Given the description of an element on the screen output the (x, y) to click on. 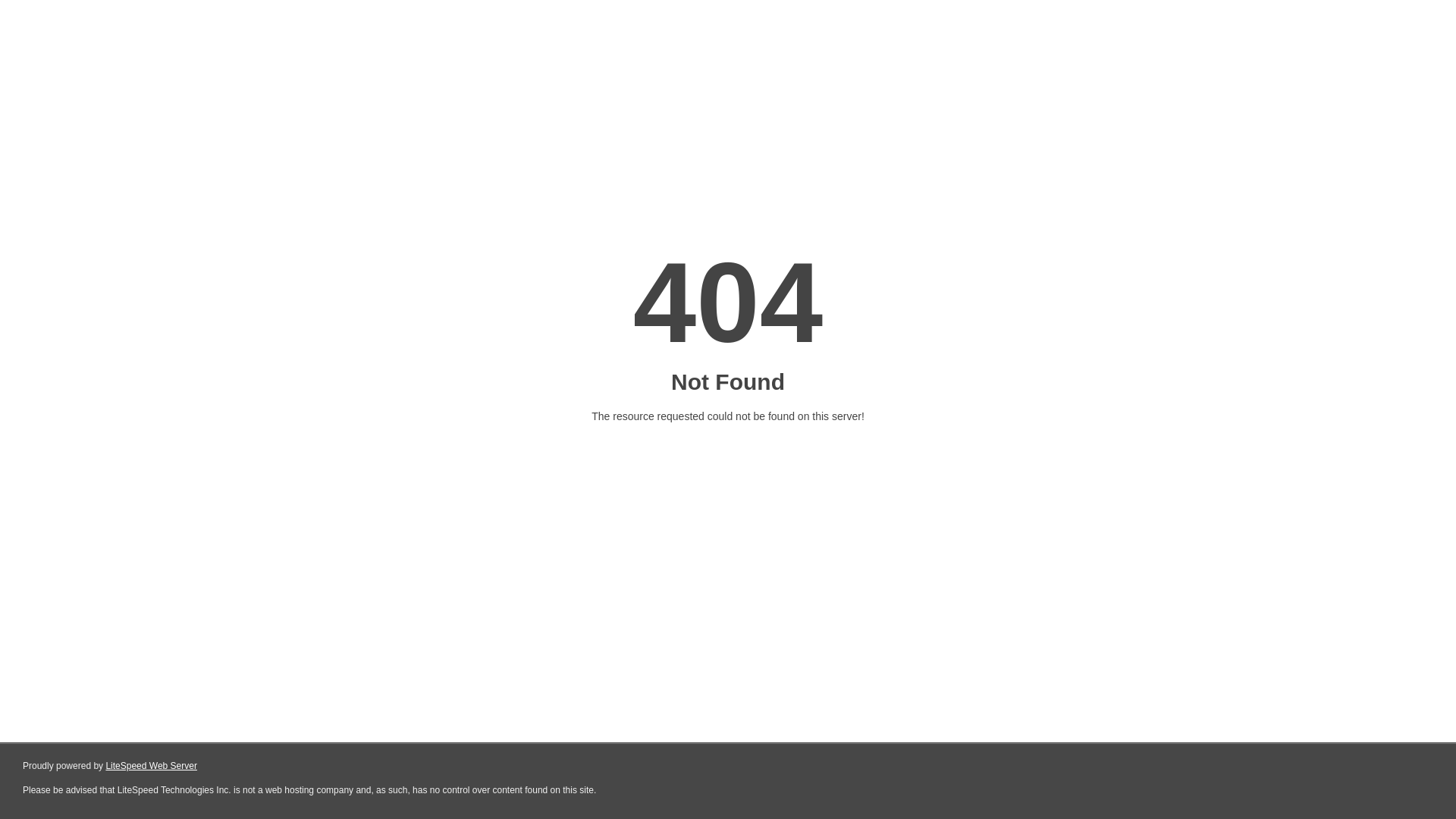
LiteSpeed Web Server Element type: text (151, 765)
